Given the description of an element on the screen output the (x, y) to click on. 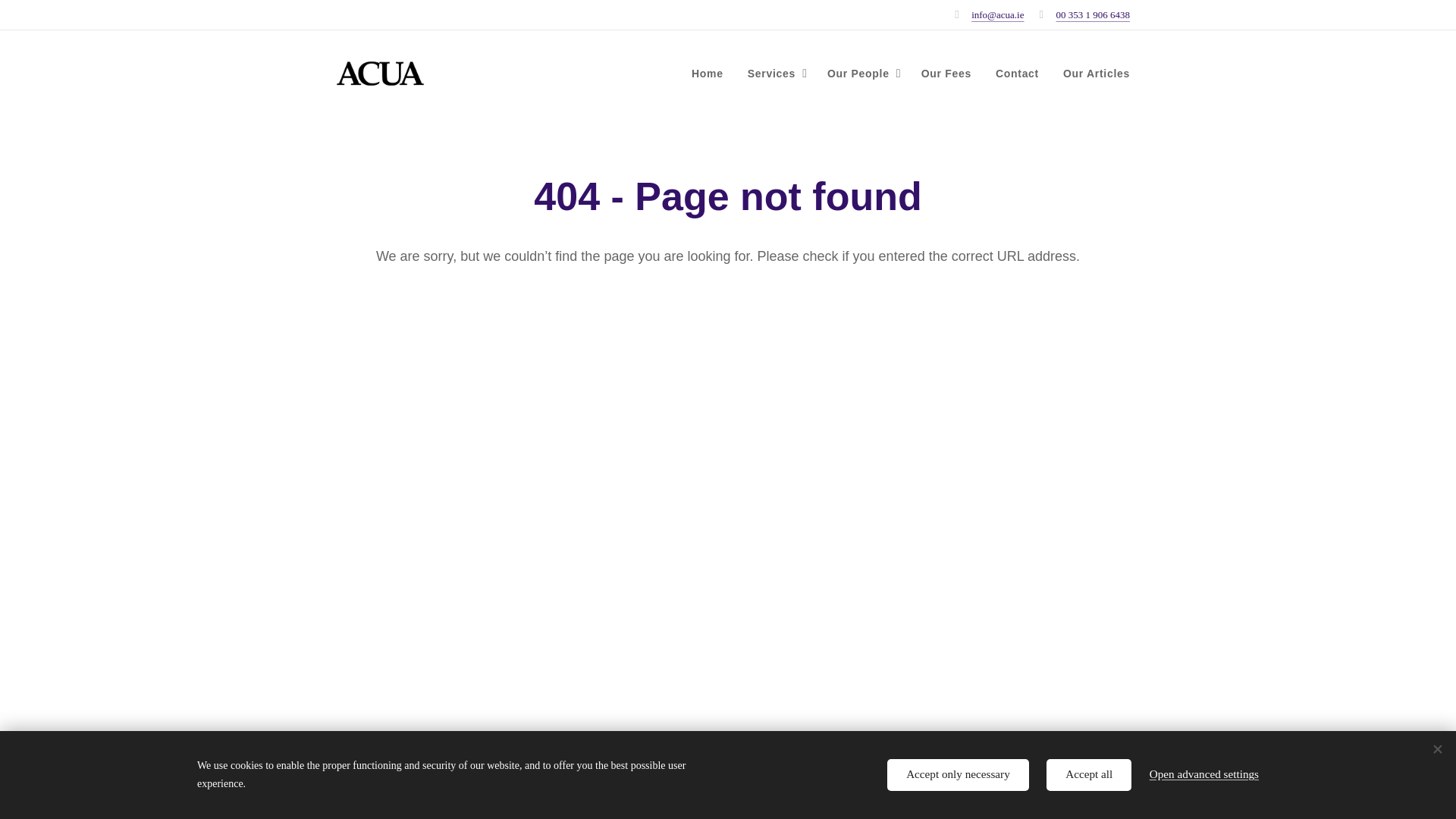
Services (775, 73)
Our Articles (1090, 73)
00 353 1 906 6438 (1092, 14)
Accept only necessary (957, 774)
Our Fees (946, 73)
Our People (861, 73)
Contact (1017, 73)
Home (711, 73)
Accept all (1088, 774)
Open advanced settings (1204, 774)
